Given the description of an element on the screen output the (x, y) to click on. 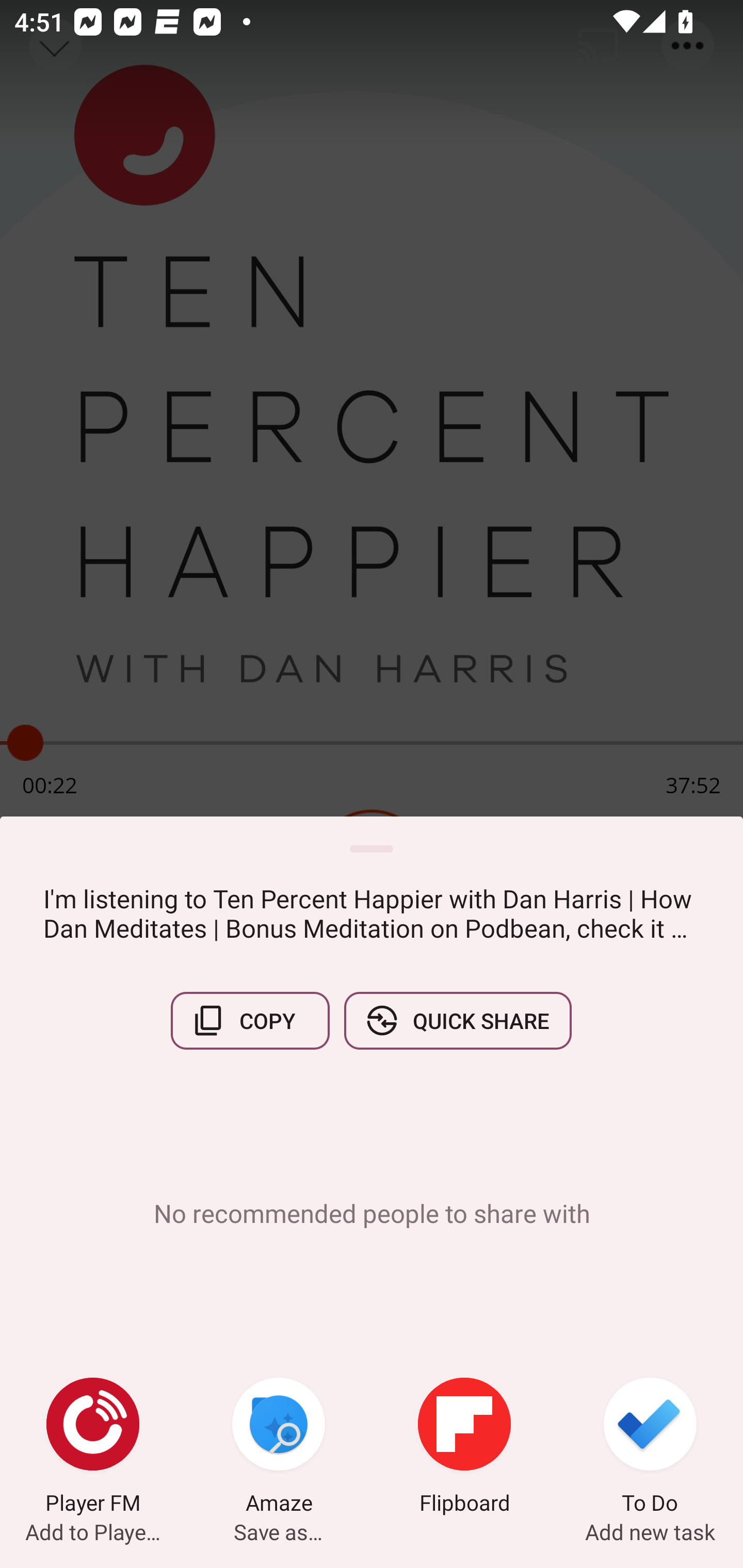
COPY (249, 1020)
QUICK SHARE (457, 1020)
Player FM Add to Player FM (92, 1448)
Amaze Save as… (278, 1448)
Flipboard (464, 1448)
To Do Add new task (650, 1448)
